Given the description of an element on the screen output the (x, y) to click on. 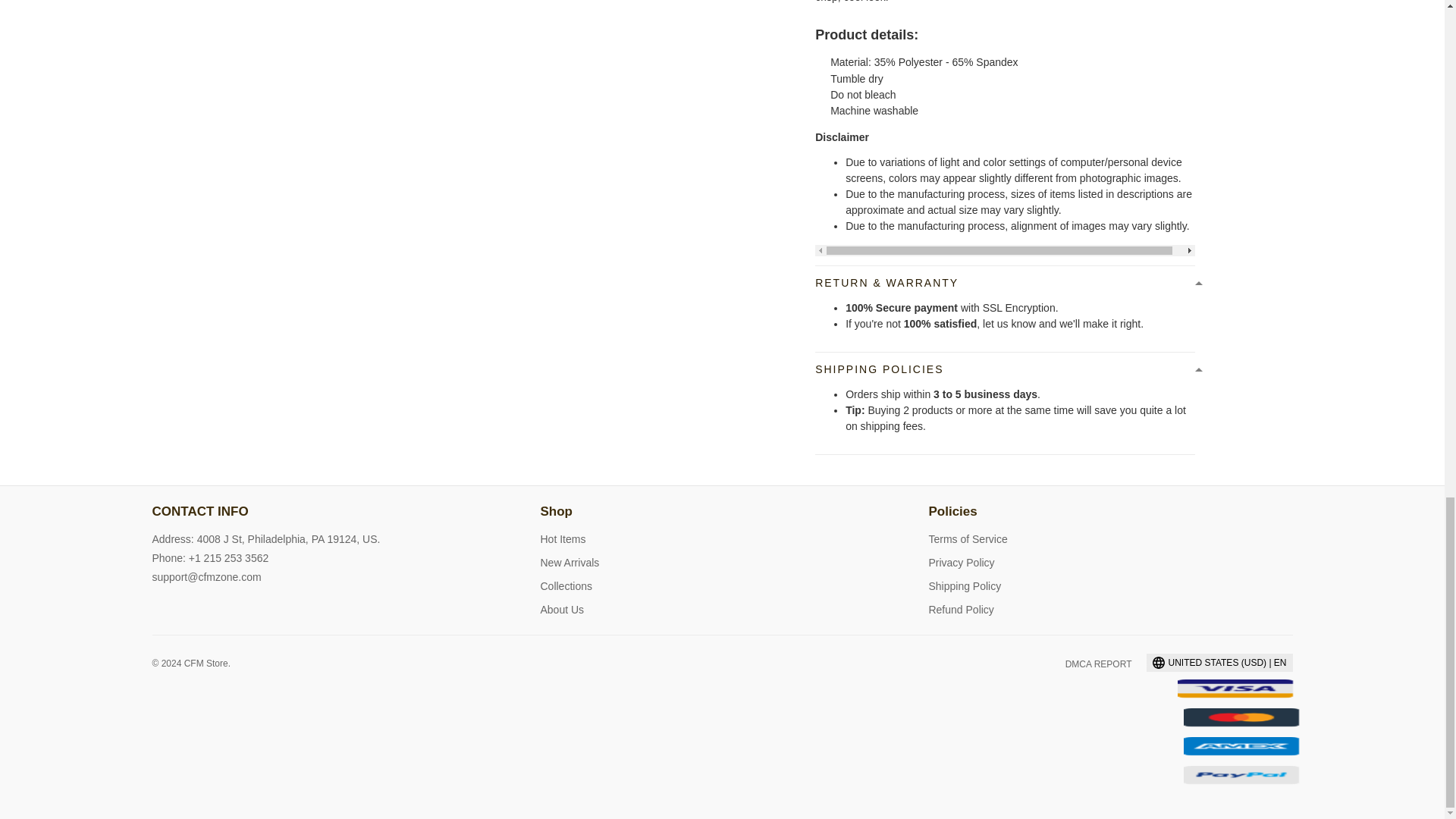
Collections (565, 585)
Refund Policy (960, 609)
DMCA REPORT (1098, 664)
Shipping Policy (964, 585)
About Us (561, 609)
New Arrivals (569, 562)
Privacy Policy (961, 562)
Hot Items (562, 539)
Terms of Service (967, 539)
